Given the description of an element on the screen output the (x, y) to click on. 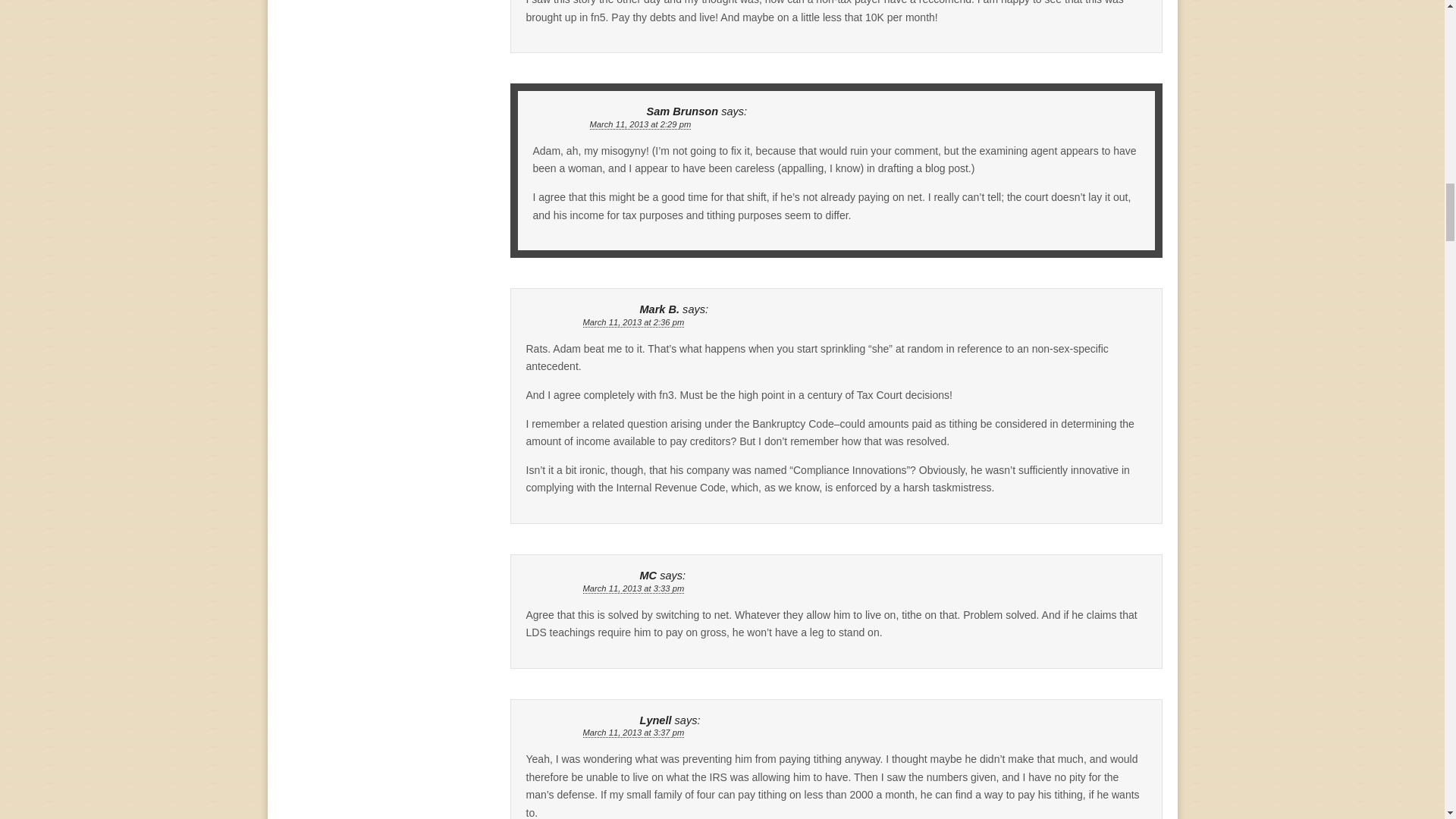
March 11, 2013 at 2:36 pm (633, 322)
March 11, 2013 at 3:33 pm (633, 588)
March 11, 2013 at 3:37 pm (633, 732)
March 11, 2013 at 2:29 pm (640, 124)
